Given the description of an element on the screen output the (x, y) to click on. 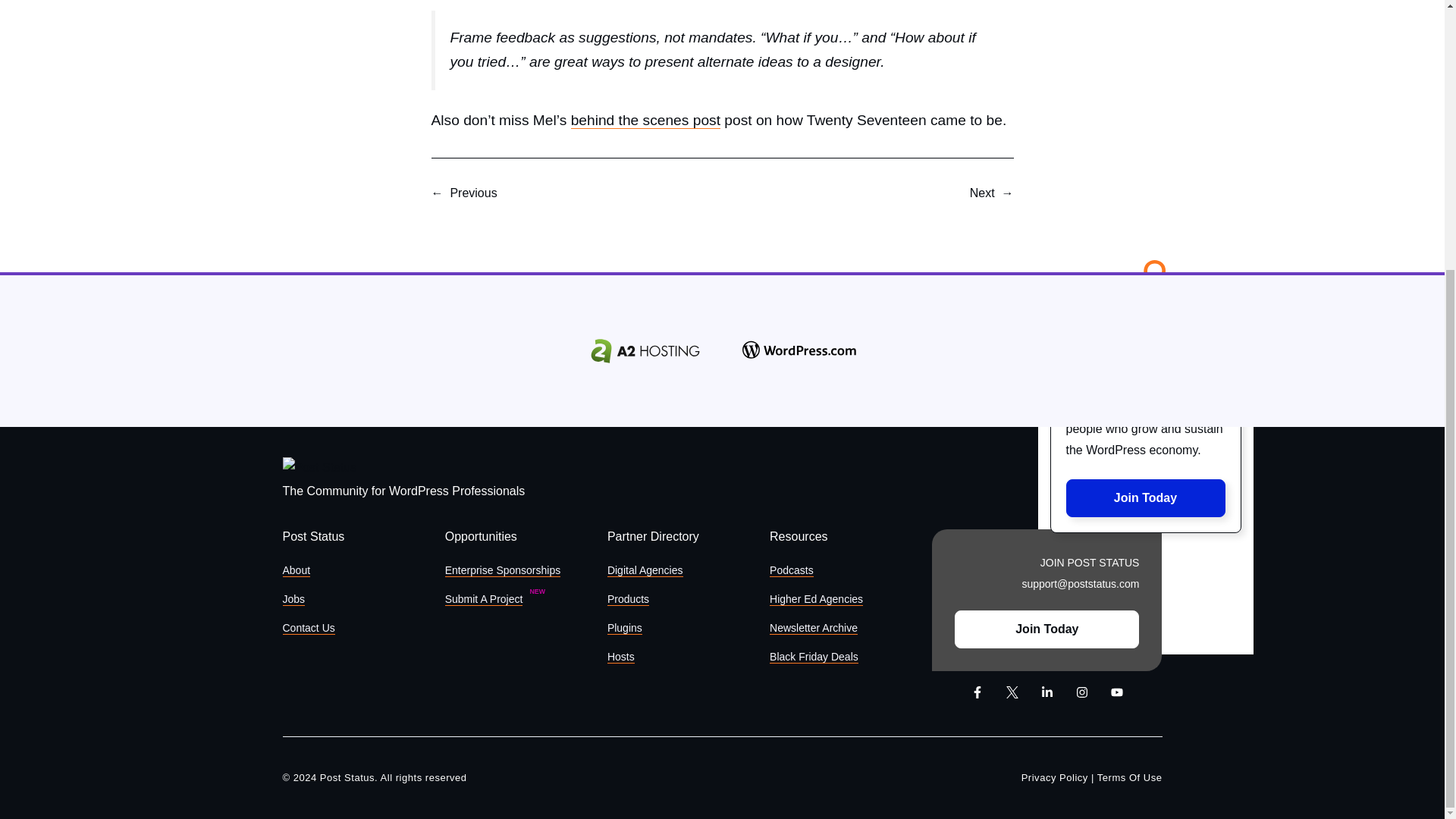
Next (981, 192)
Post Status (319, 467)
WordPress.com (799, 351)
Plugins (624, 627)
Podcasts (791, 570)
Post Status Icon (1144, 280)
Digital Agencies (644, 570)
Products (628, 599)
Previous (472, 192)
Join Today (1046, 629)
Enterprise Sponsorships (502, 570)
Jobs (293, 599)
Hosts (620, 656)
Black Friday Deals (814, 656)
Join Today (1145, 497)
